Given the description of an element on the screen output the (x, y) to click on. 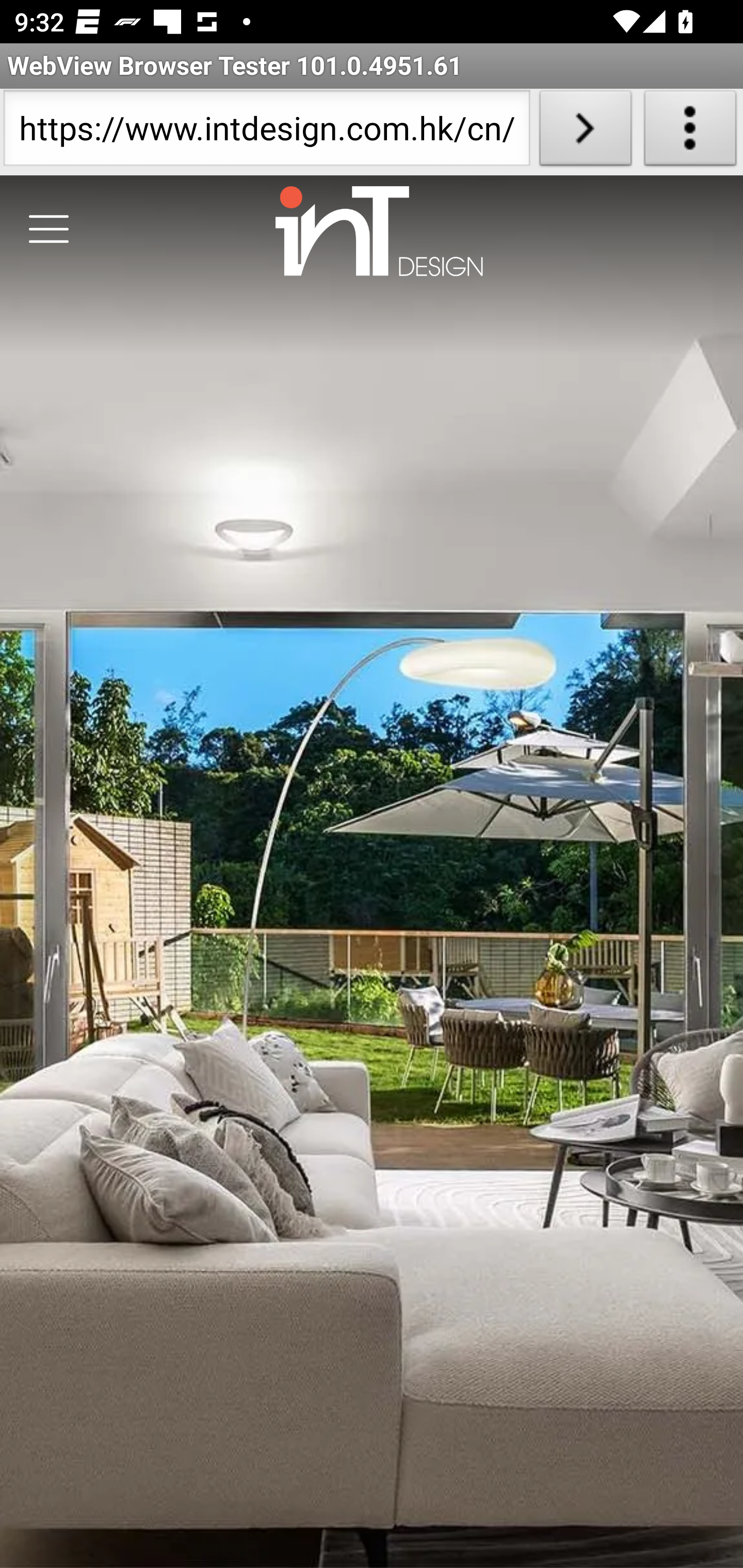
Load URL (585, 132)
About WebView (690, 132)
 (48, 229)
